Given the description of an element on the screen output the (x, y) to click on. 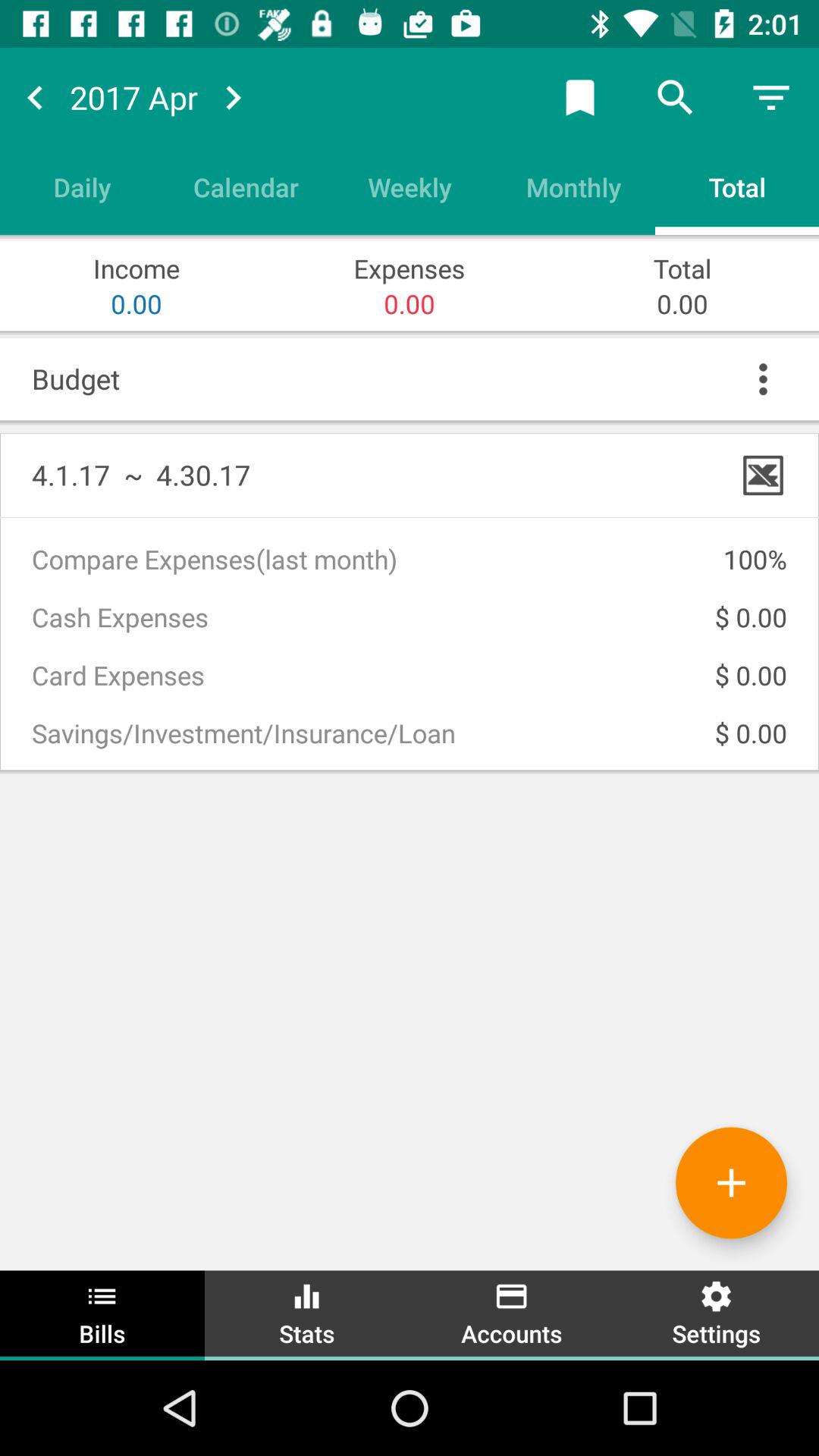
turn off item next to calendar item (81, 186)
